Given the description of an element on the screen output the (x, y) to click on. 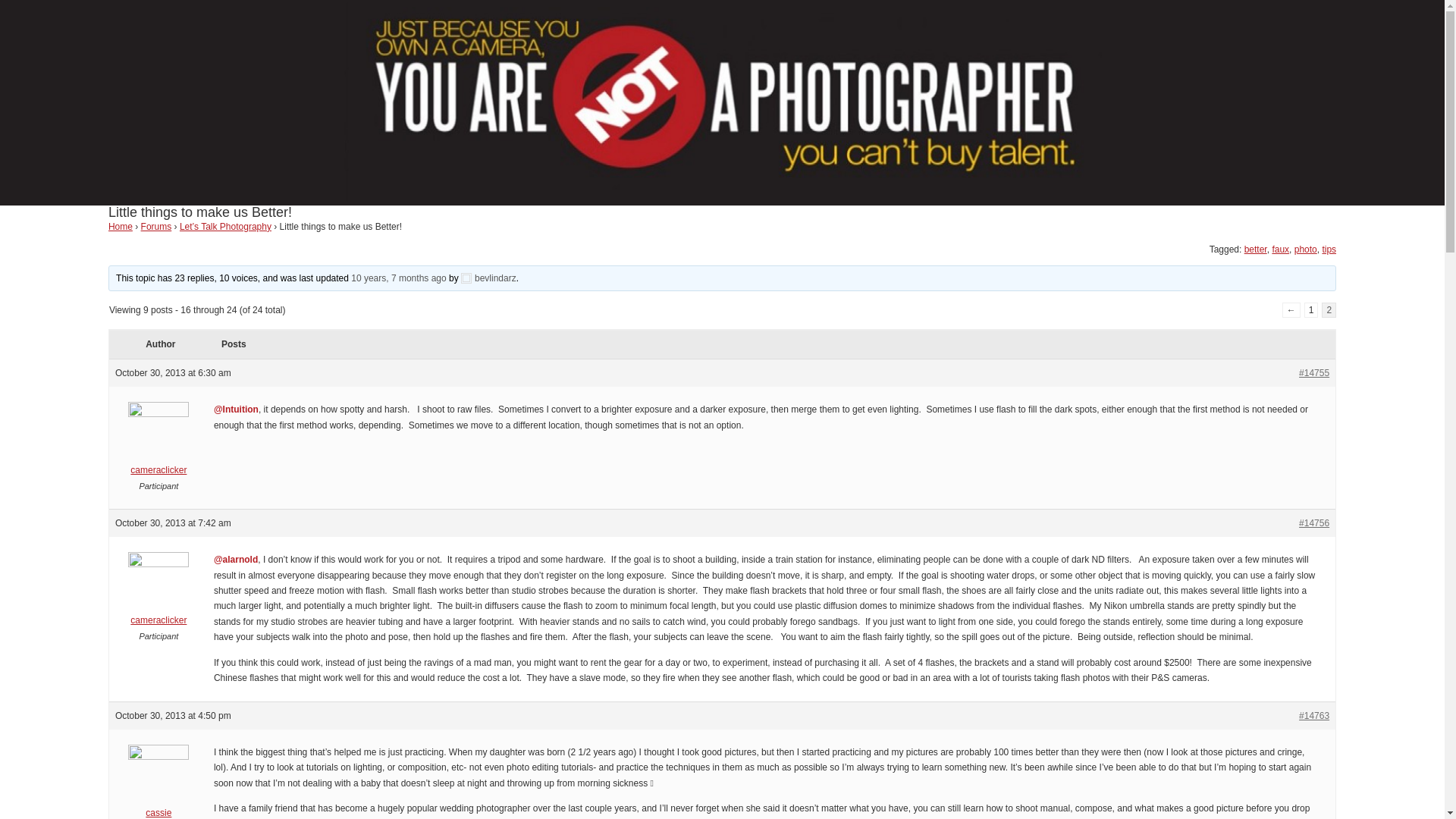
cameraclicker (158, 593)
cassie (158, 785)
View cameraclicker's profile (158, 593)
tips (1329, 249)
faux (1279, 249)
10 years, 7 months ago (397, 277)
cameraclicker (158, 442)
View cassie's profile (158, 785)
better (1255, 249)
Reply To: Little things to make us Better! (397, 277)
